Given the description of an element on the screen output the (x, y) to click on. 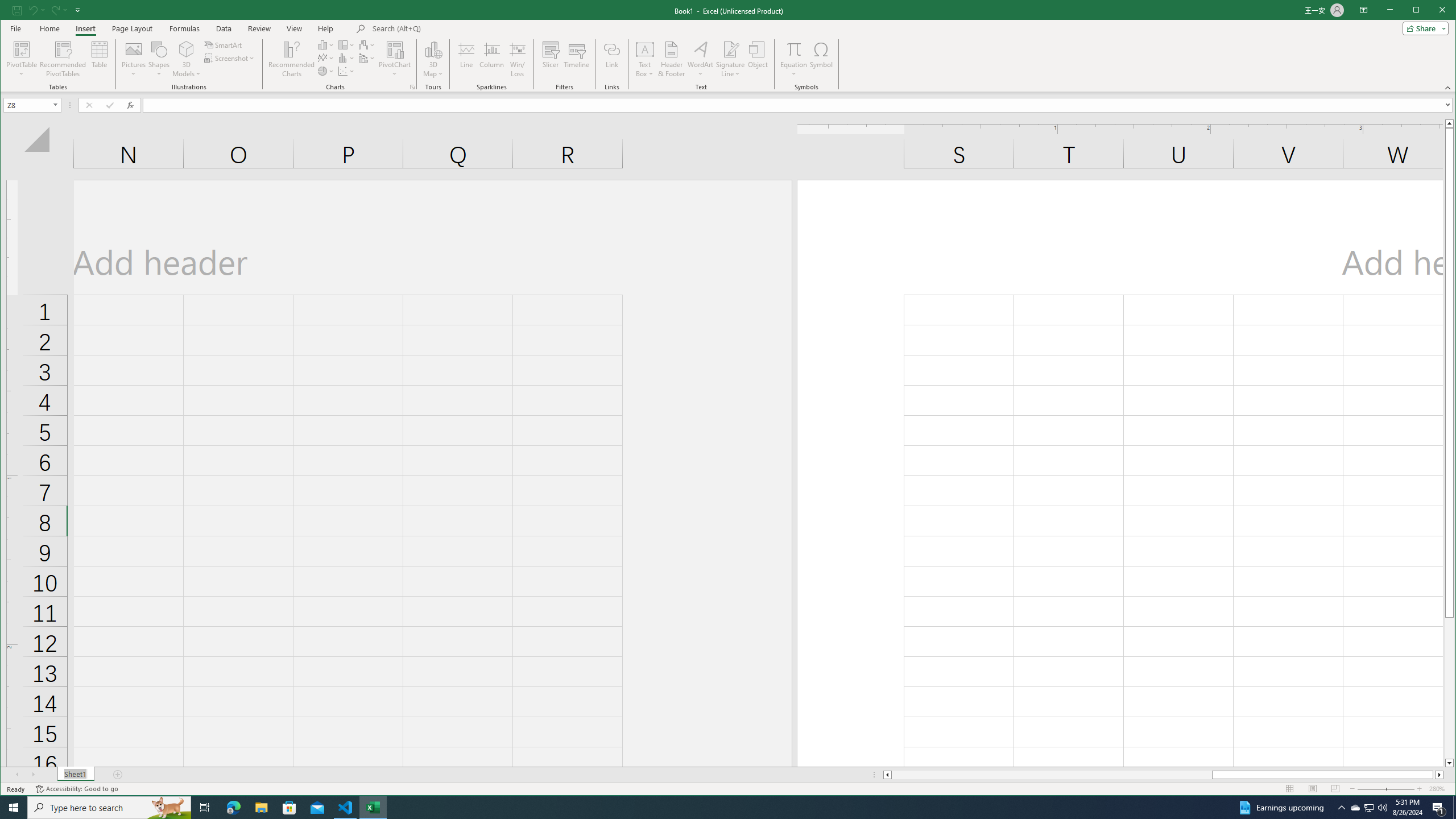
Insert Combo Chart (366, 57)
Visual Studio Code - 1 running window (345, 807)
Draw Horizontal Text Box (644, 48)
Recommended Charts (411, 86)
Text Box (644, 59)
Earnings upcoming (1280, 807)
Recommended PivotTables (63, 59)
Insert Column or Bar Chart (325, 44)
